Given the description of an element on the screen output the (x, y) to click on. 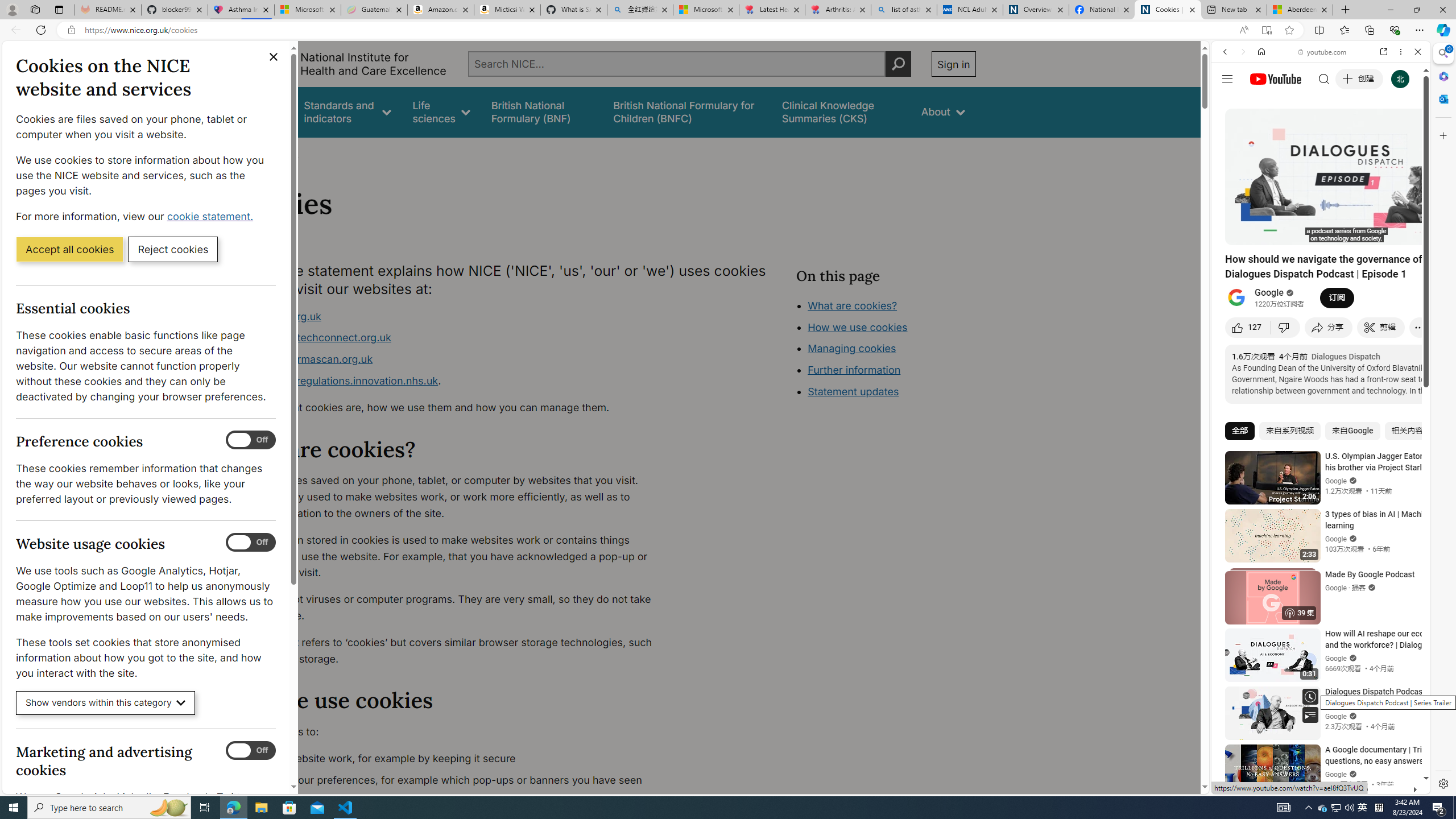
www.nice.org.uk (279, 315)
Trailer #2 [HD] (1320, 337)
Class: in-page-nav__list (884, 349)
